Given the description of an element on the screen output the (x, y) to click on. 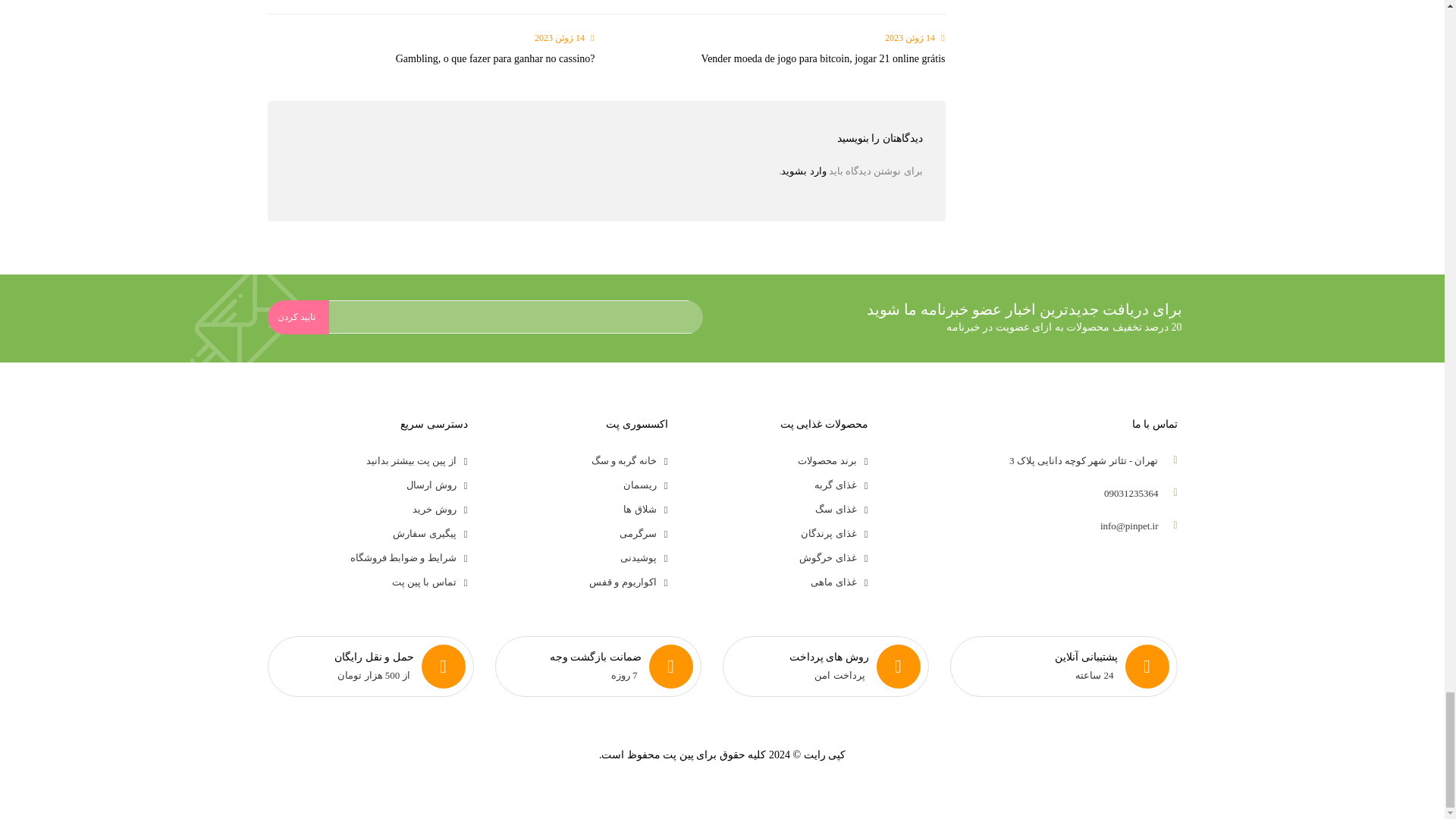
Gambling, o que fazer para ganhar no cassino? (495, 58)
